Given the description of an element on the screen output the (x, y) to click on. 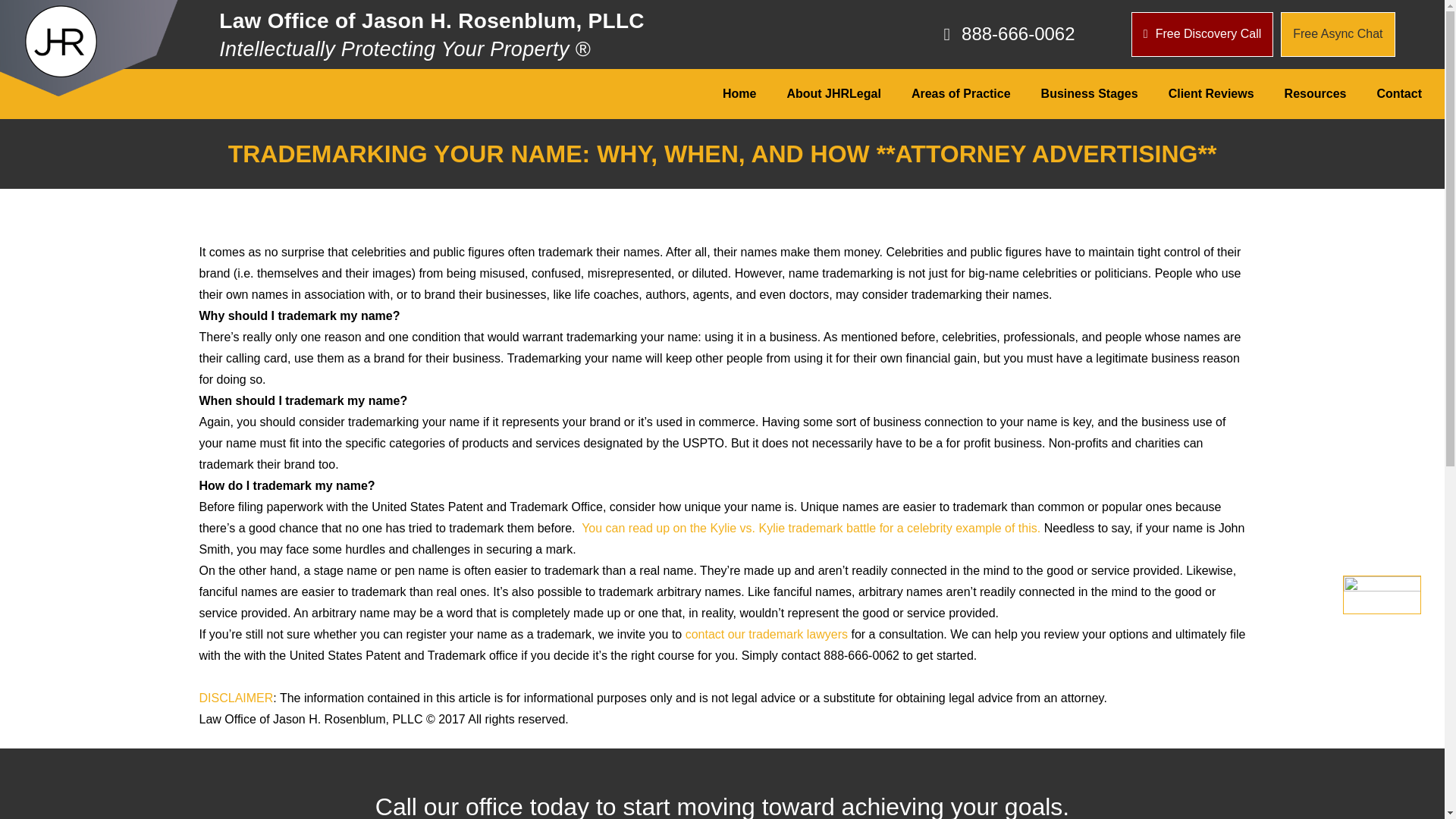
Free Discovery Call (1201, 34)
About JHRLegal (833, 93)
Home (739, 93)
888-666-0062 (956, 34)
Client Reviews (1211, 93)
Business Stages (1089, 93)
Free Async Chat (1337, 34)
Contact (1399, 93)
Resources (1315, 93)
contact our trademark lawyers (766, 634)
Areas of Practice (961, 93)
